Given the description of an element on the screen output the (x, y) to click on. 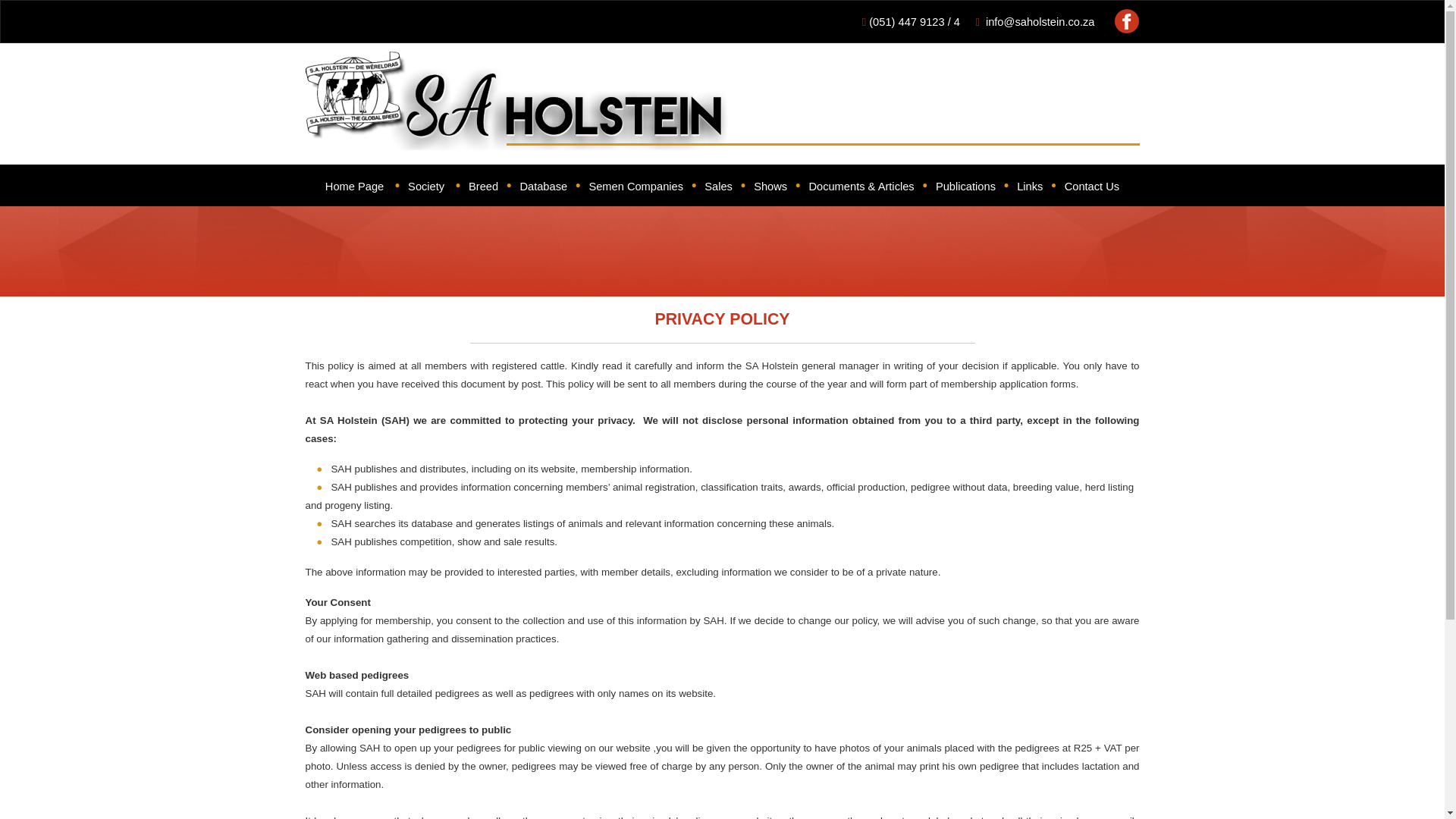
Society (425, 186)
Contact Us (1091, 186)
Home Page (354, 186)
Publications (965, 185)
Semen Companies (635, 185)
Breed (482, 186)
Links (1029, 186)
Shows (770, 186)
Sales (718, 186)
Database (543, 186)
